Given the description of an element on the screen output the (x, y) to click on. 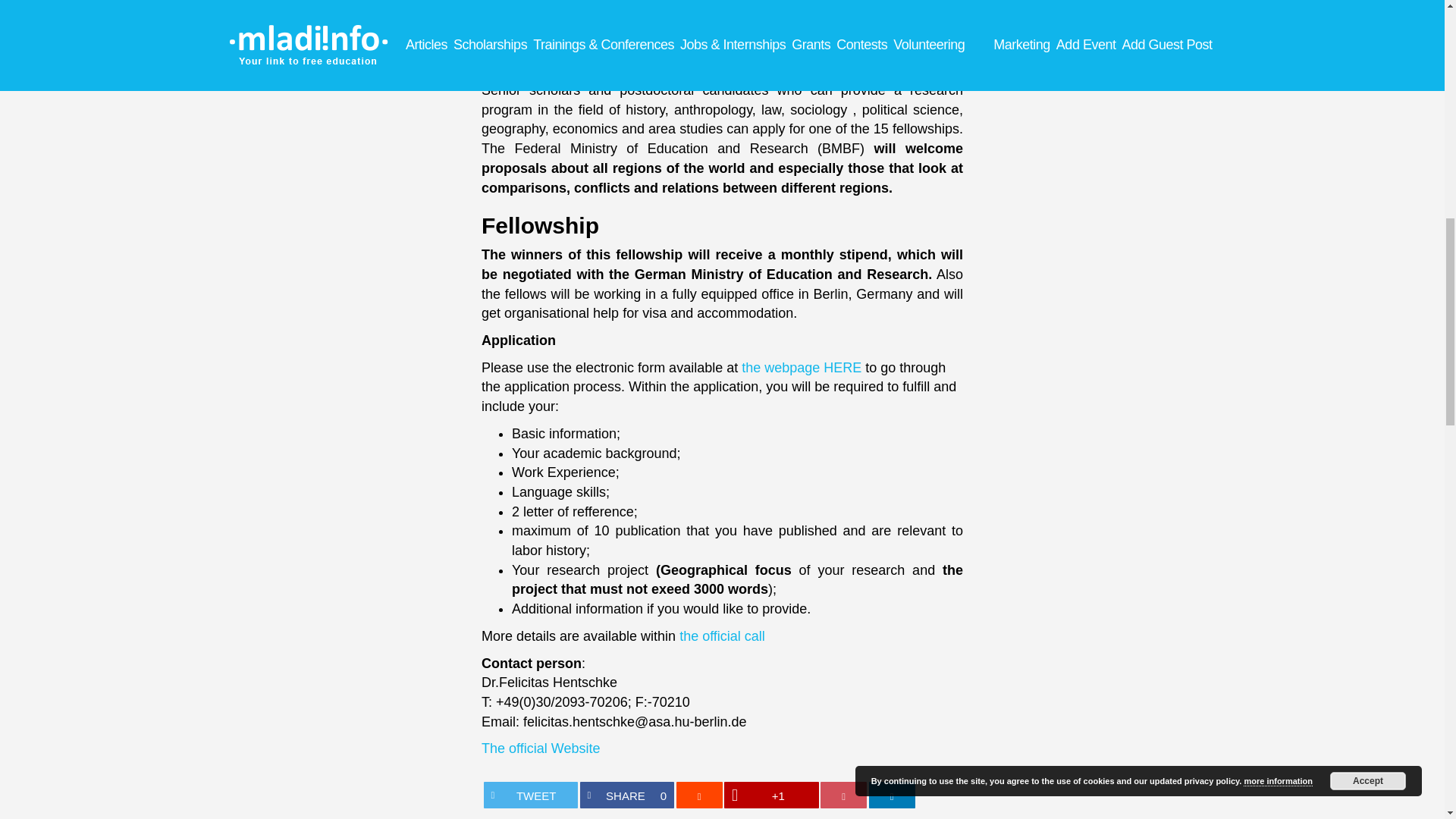
The official Website (540, 748)
Submit to Reddit (699, 795)
Share on Facebook (626, 795)
TWEET (530, 795)
Tweet on Twitter (530, 795)
Save to read later on Pocket (626, 795)
the webpage HERE (843, 795)
Share on Linkedin (801, 367)
the official call (892, 795)
